Given the description of an element on the screen output the (x, y) to click on. 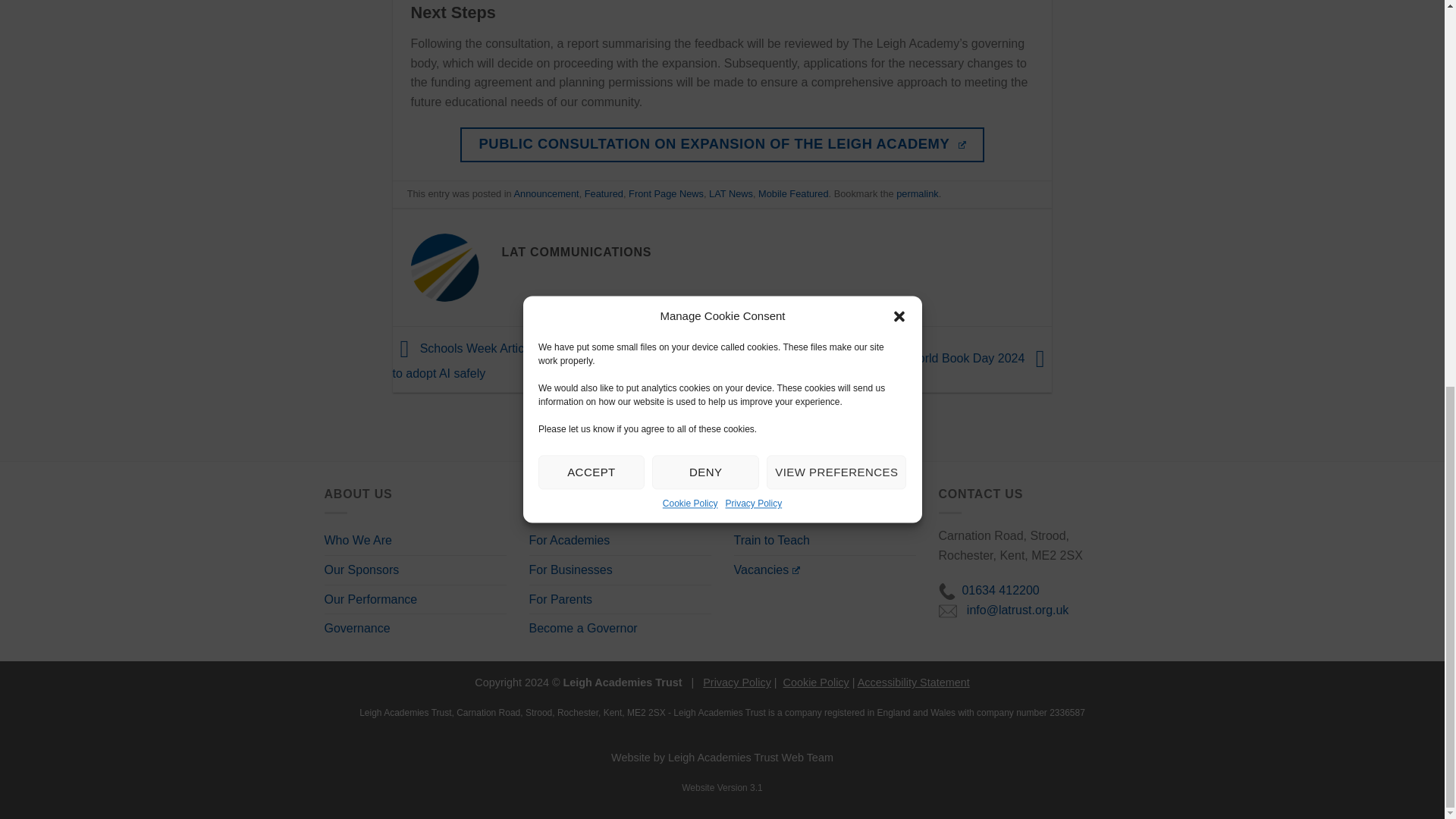
Featured (604, 193)
LAT News (730, 193)
Front Page News (665, 193)
Mobile Featured (793, 193)
Announcement (546, 193)
PUBLIC CONSULTATION ON EXPANSION OF THE LEIGH ACADEMY (722, 144)
permalink (916, 193)
World Book Day 2024 (979, 358)
